Given the description of an element on the screen output the (x, y) to click on. 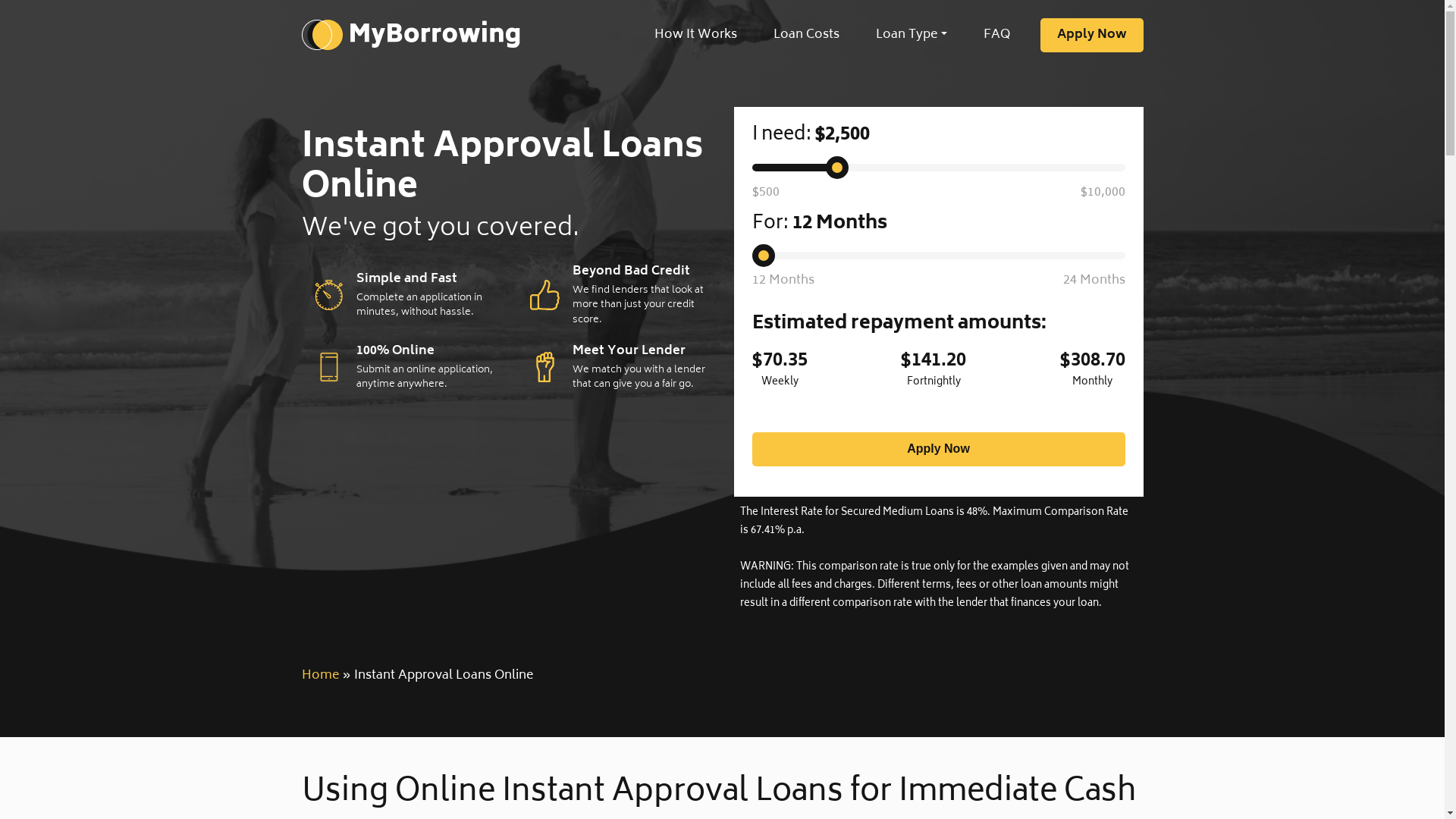
FAQ Element type: text (995, 34)
Loan Costs Element type: text (806, 34)
Apply Now Element type: text (1091, 35)
How It Works Element type: text (695, 34)
Home Element type: text (319, 675)
Apply Now Element type: text (938, 449)
Loan Type Element type: text (910, 34)
